Given the description of an element on the screen output the (x, y) to click on. 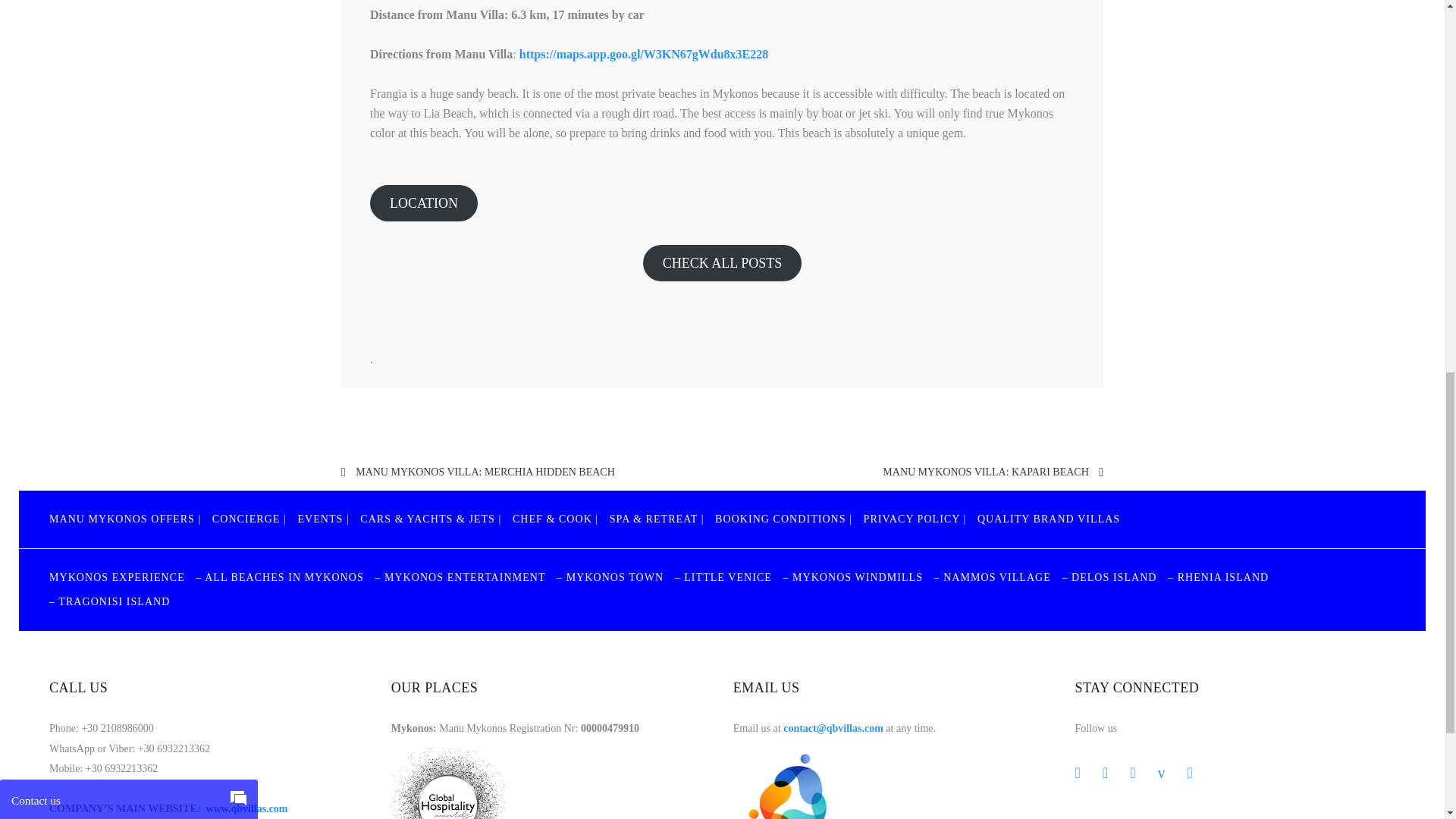
QUALITY BRAND VILLAS (1047, 518)
MYKONOS EXPERIENCE (116, 577)
LOCATION (423, 203)
MANU MYKONOS VILLA: MERCHIA HIDDEN BEACH (484, 471)
MANU MYKONOS VILLA: KAPARI BEACH (984, 471)
CHECK ALL POSTS (722, 262)
